Given the description of an element on the screen output the (x, y) to click on. 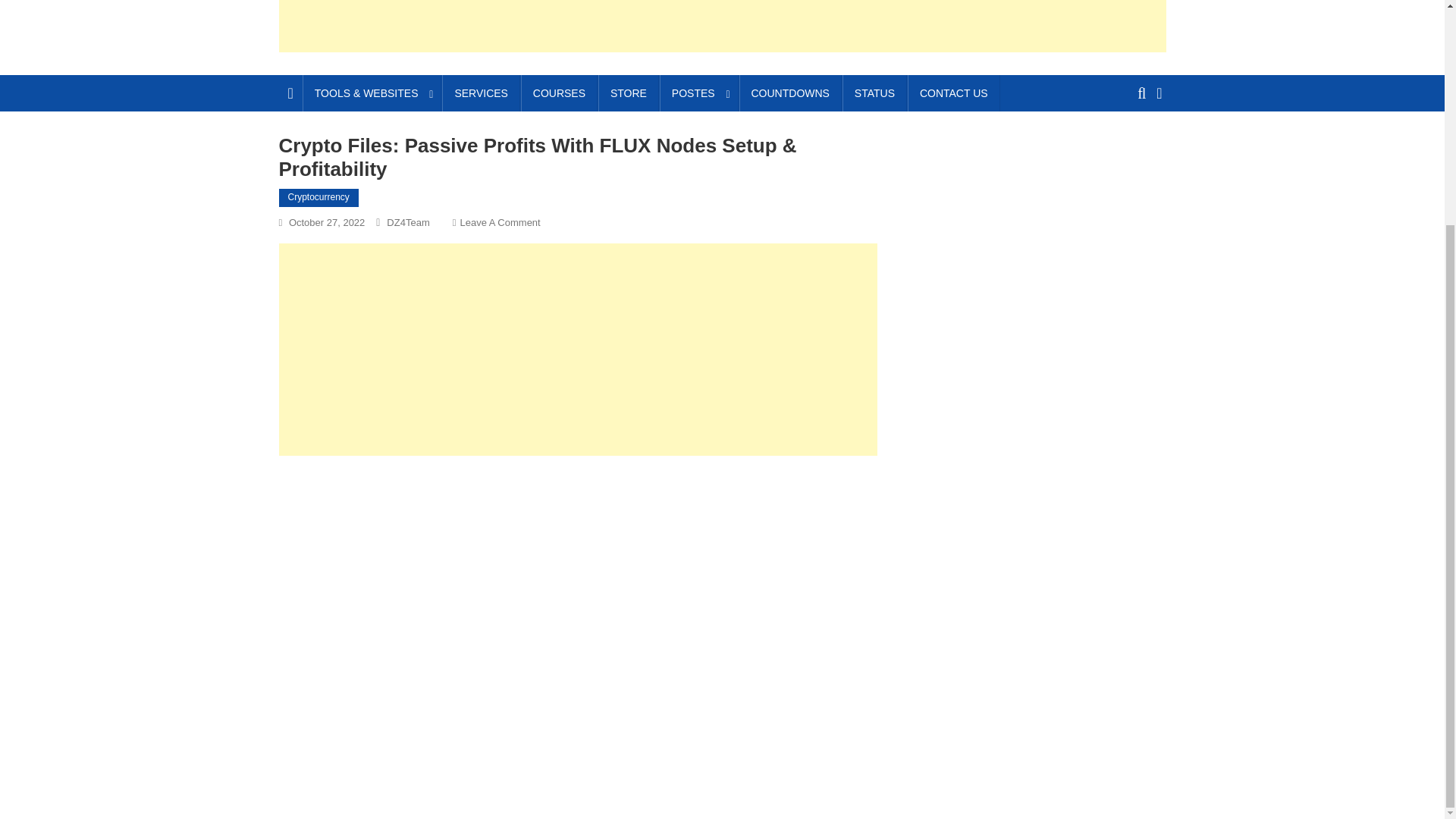
STATUS (875, 93)
Search (1133, 148)
October 27, 2022 (326, 222)
COURSES (558, 93)
Advertisement (722, 26)
COUNTDOWNS (789, 93)
Advertisement (578, 349)
Cryptocurrency (318, 198)
DZ4Team (408, 222)
POSTES (698, 93)
STORE (628, 93)
SERVICES (480, 93)
CONTACT US (953, 93)
